Given the description of an element on the screen output the (x, y) to click on. 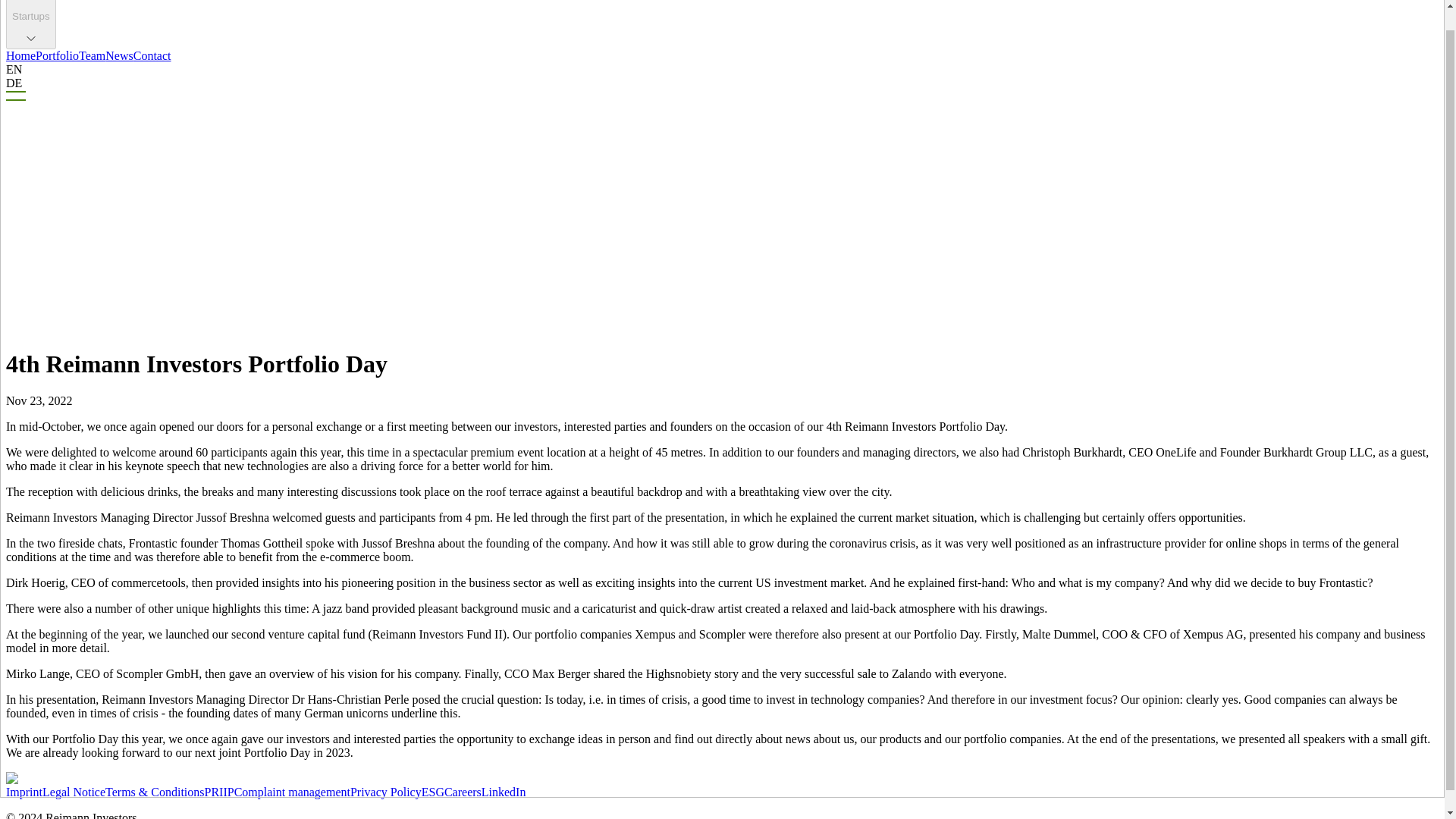
News (118, 55)
Complaint management (292, 791)
PRIIP (219, 791)
Careers (462, 791)
Portfolio (56, 55)
Team (91, 55)
Home (19, 55)
Legal Notice (73, 791)
LinkedIn (503, 791)
Privacy Policy (386, 791)
Startups (30, 24)
ESG (433, 791)
Contact (152, 55)
Imprint (23, 791)
